Given the description of an element on the screen output the (x, y) to click on. 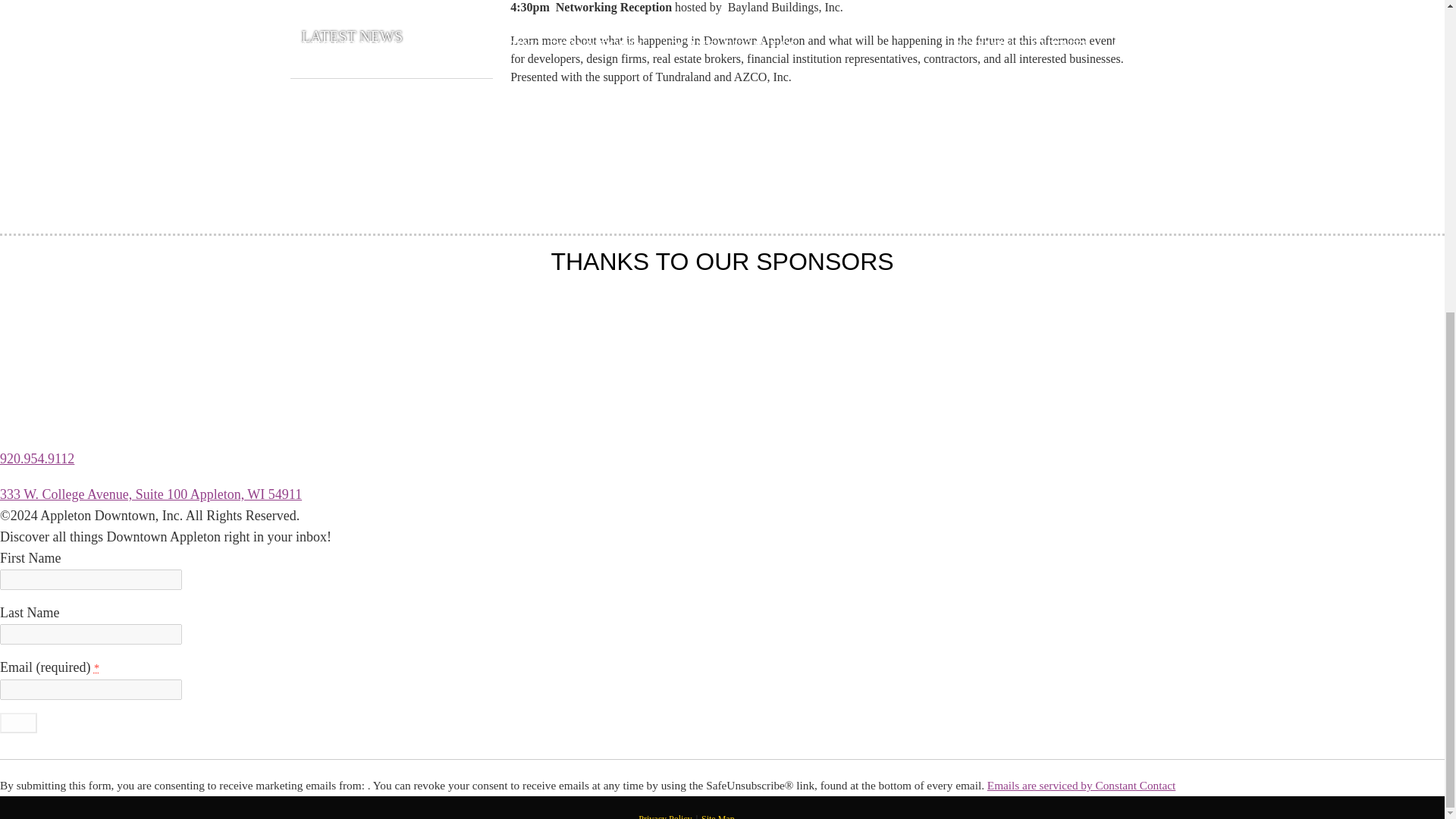
GO! (18, 722)
